Given the description of an element on the screen output the (x, y) to click on. 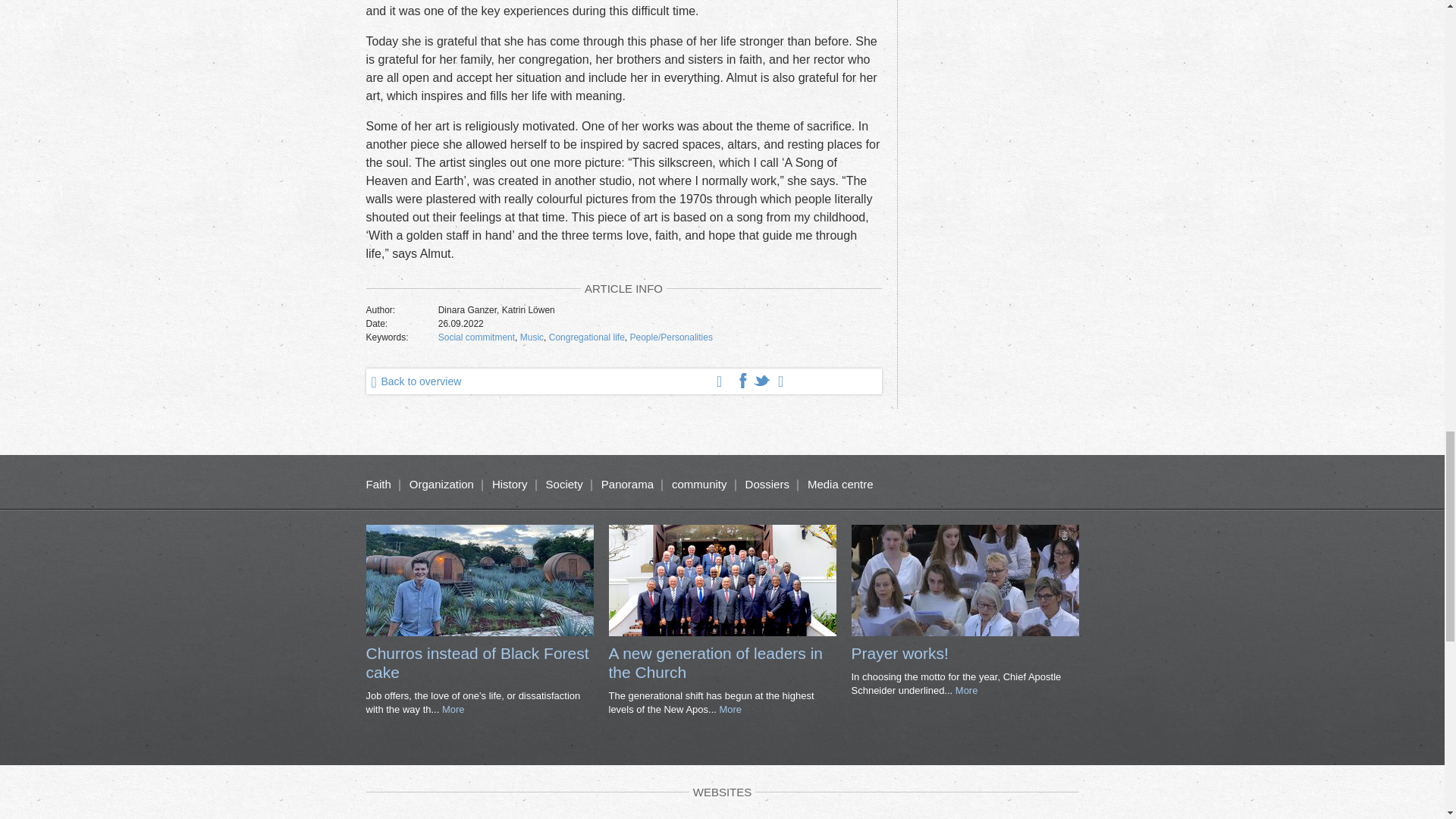
Music (531, 337)
Social commitment (476, 337)
Congregational life (586, 337)
